Given the description of an element on the screen output the (x, y) to click on. 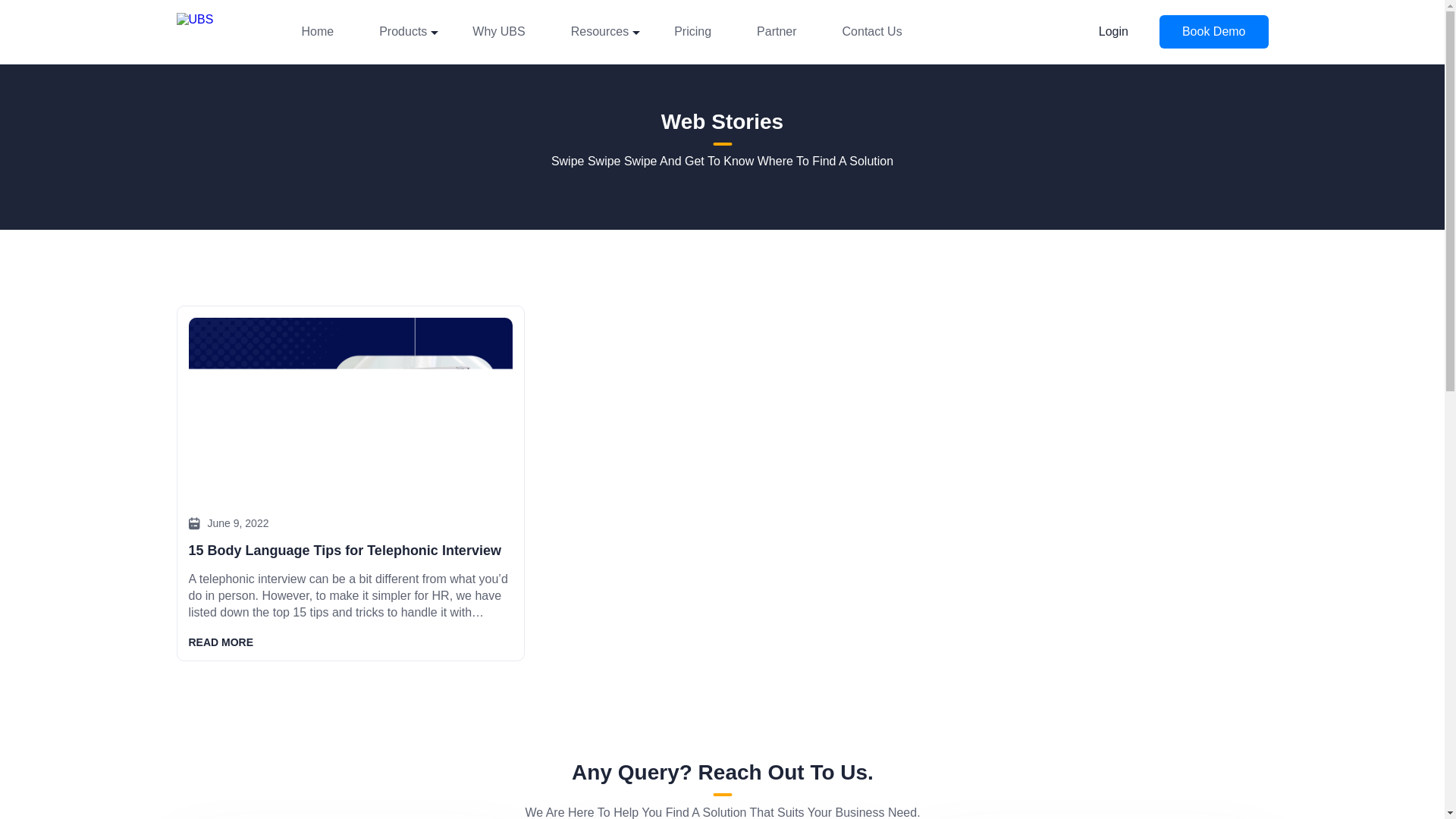
UBS (213, 31)
Home (317, 31)
Products (402, 31)
